Given the description of an element on the screen output the (x, y) to click on. 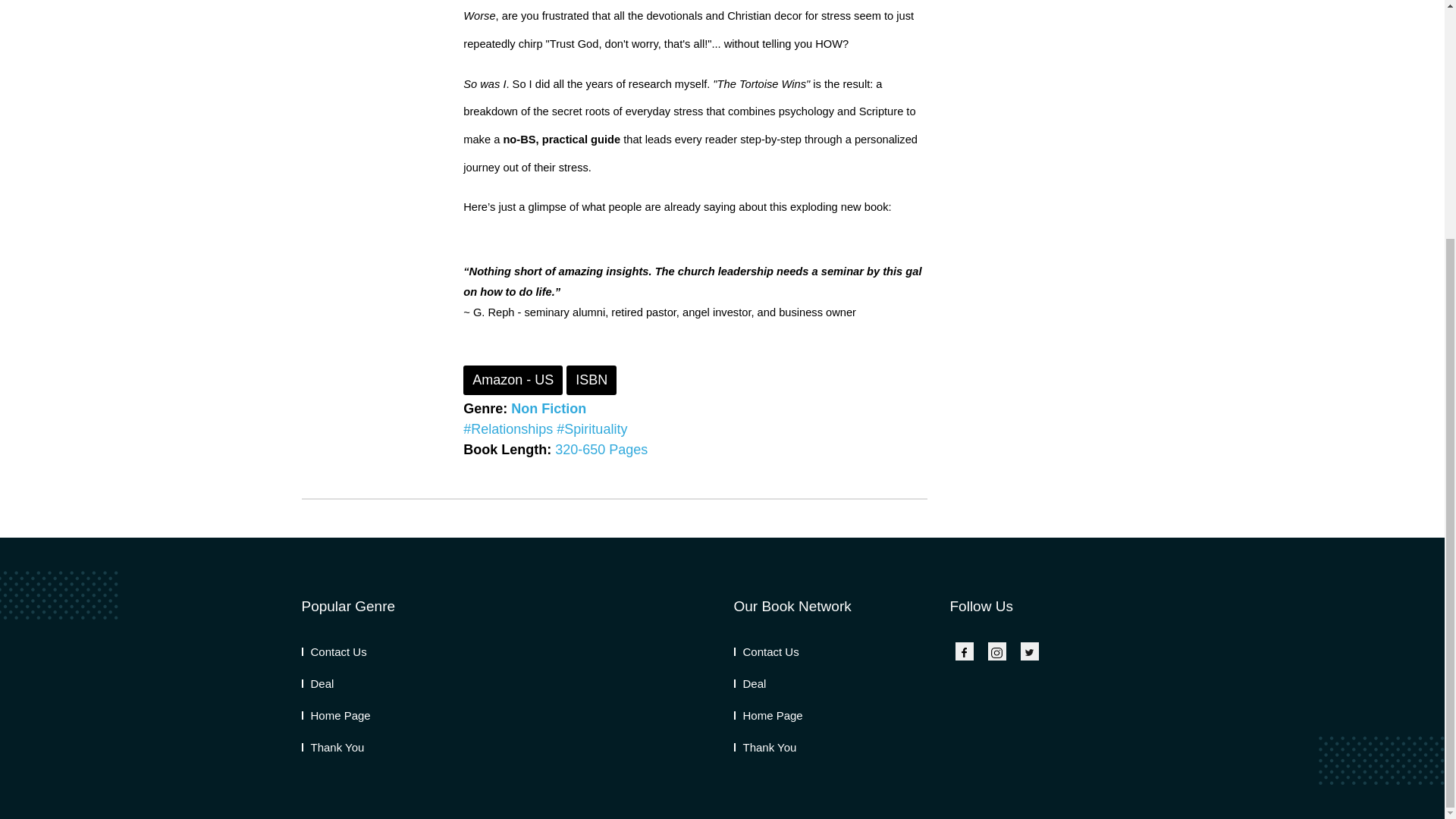
Thank You (333, 747)
Thank You (764, 747)
Contact Us (333, 651)
Contact Us (766, 651)
ISBN (590, 379)
Deal (317, 683)
Non Fiction (548, 408)
Home Page (336, 715)
Deal (750, 683)
Amazon - US (512, 379)
